Given the description of an element on the screen output the (x, y) to click on. 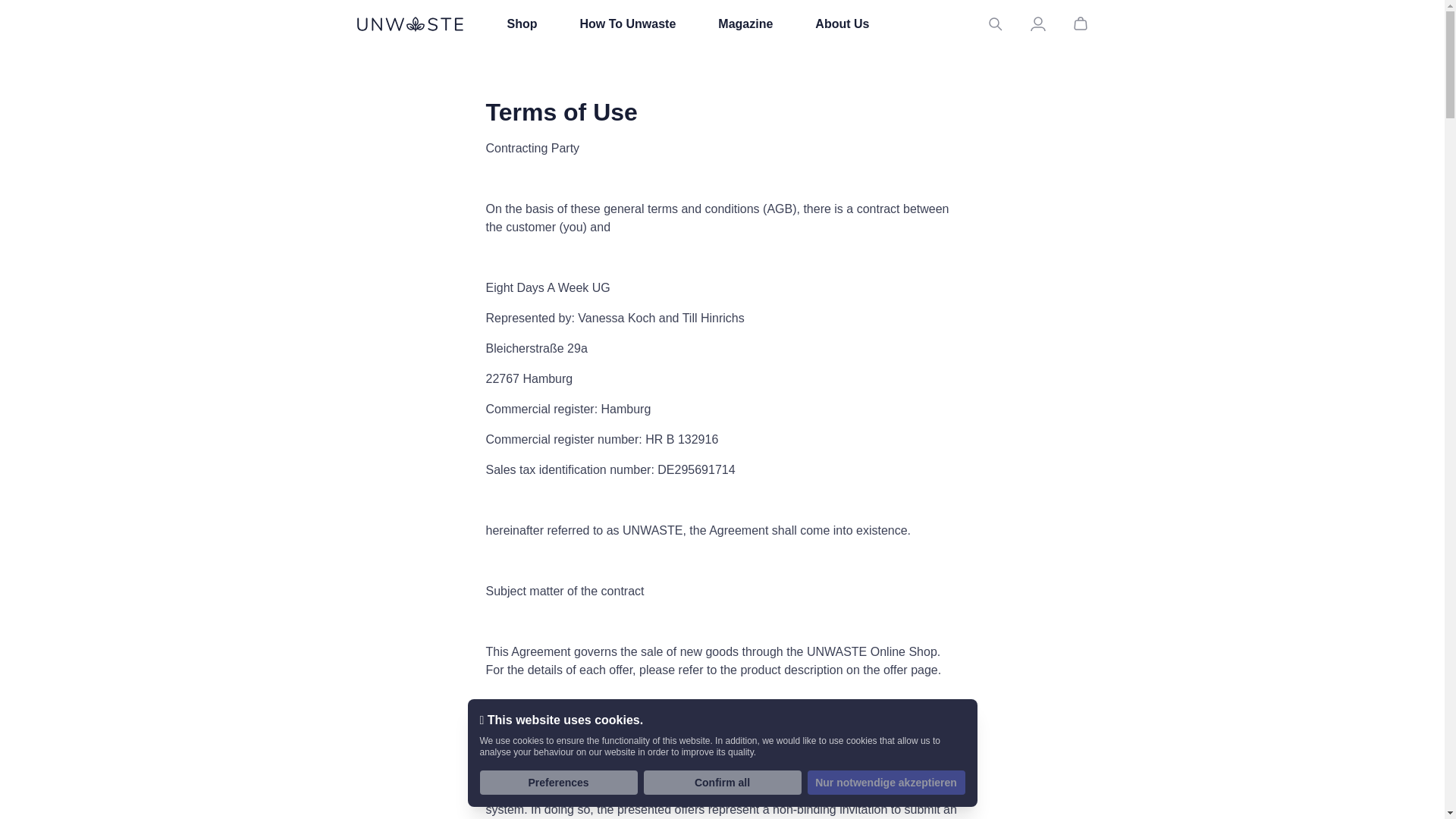
Shop (521, 24)
Magazine (745, 24)
Preferences (558, 782)
Nur notwendige akzeptieren (884, 782)
Homepage (409, 24)
How To Unwaste (627, 24)
Confirm all (721, 782)
About Us (842, 24)
Cart (1079, 24)
Search (994, 24)
